Given the description of an element on the screen output the (x, y) to click on. 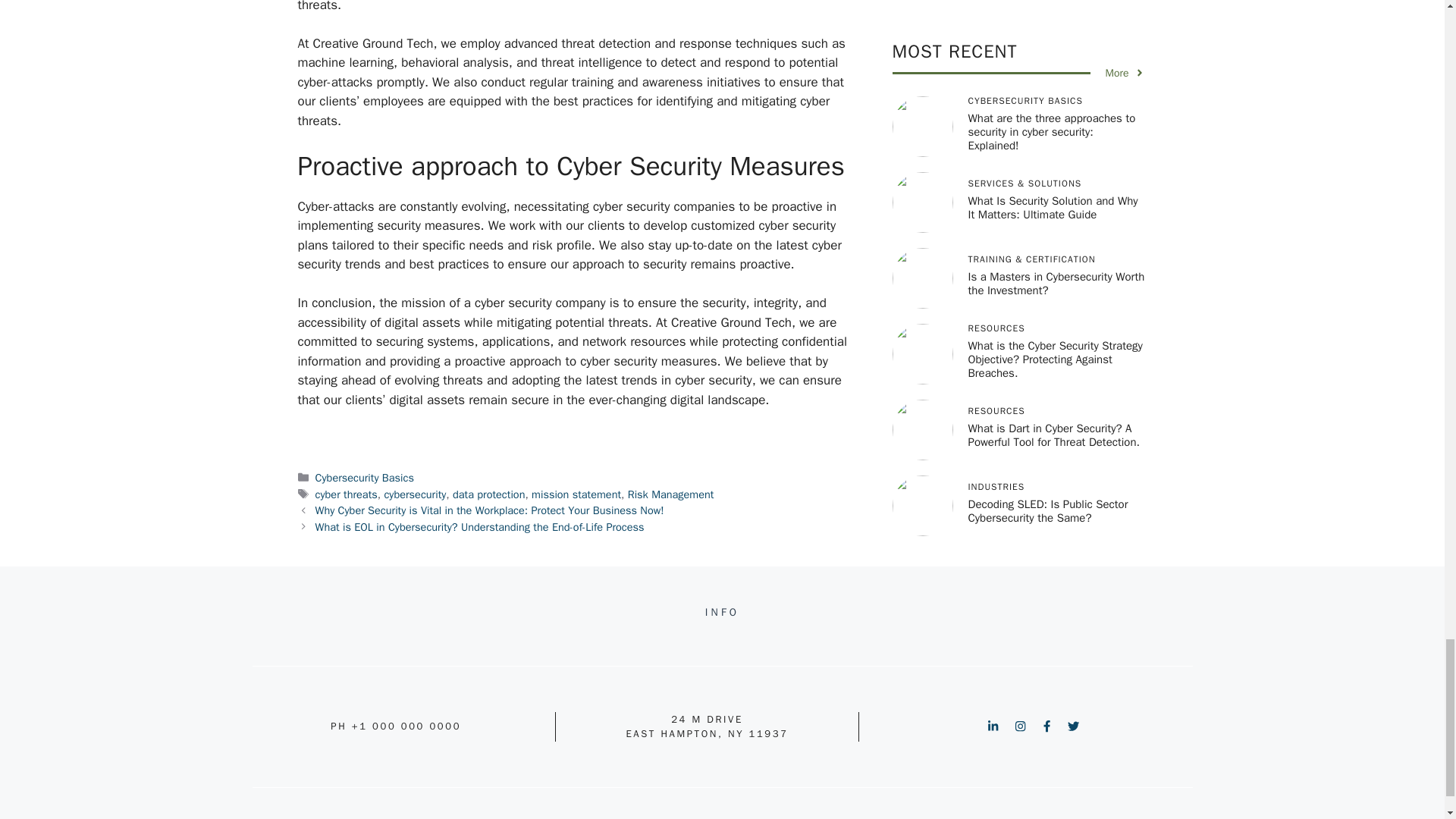
data protection (488, 494)
Cybersecurity Basics (364, 477)
cybersecurity (414, 494)
cyber threats (346, 494)
mission statement (576, 494)
Risk Management (670, 494)
